Given the description of an element on the screen output the (x, y) to click on. 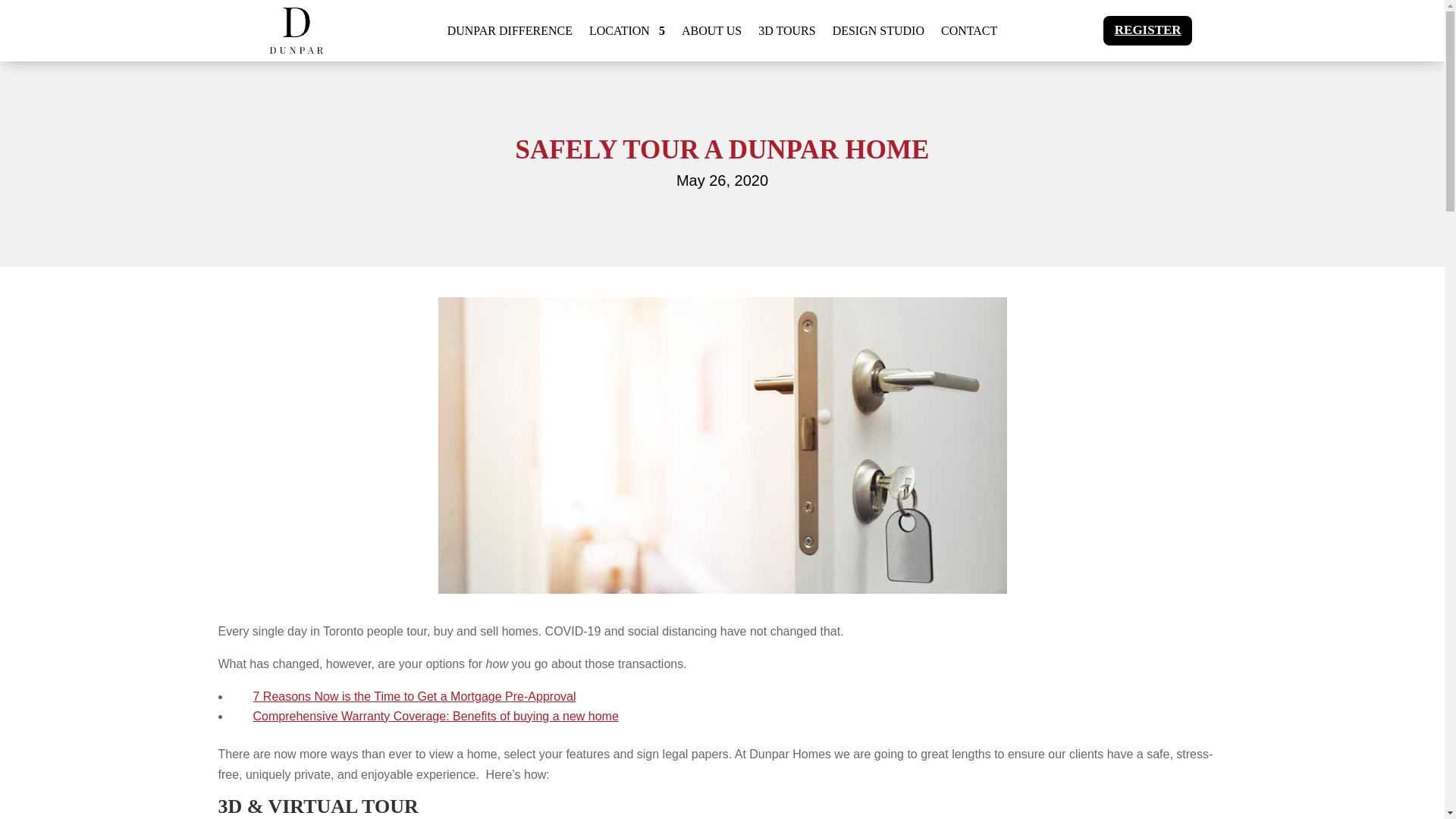
LOCATION (627, 33)
DESIGN STUDIO (878, 33)
REGISTER (1147, 30)
CONTACT (968, 33)
ABOUT US (711, 33)
dunpar logo (296, 30)
7 Reasons Now is the Time to Get a Mortgage Pre-Approval (414, 696)
DUNPAR DIFFERENCE (509, 33)
3D TOURS (786, 33)
